Given the description of an element on the screen output the (x, y) to click on. 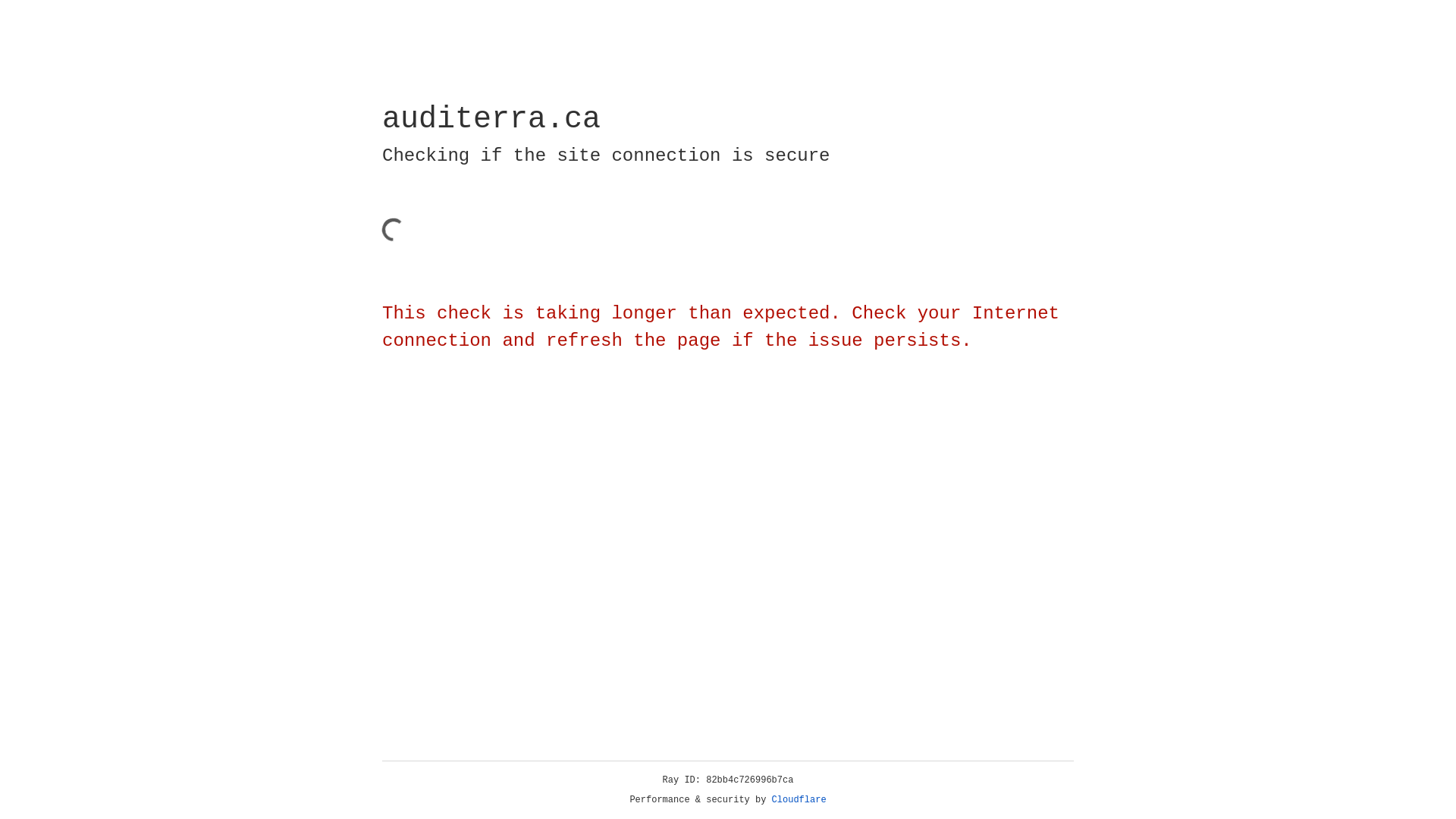
Cloudflare Element type: text (798, 799)
